Given the description of an element on the screen output the (x, y) to click on. 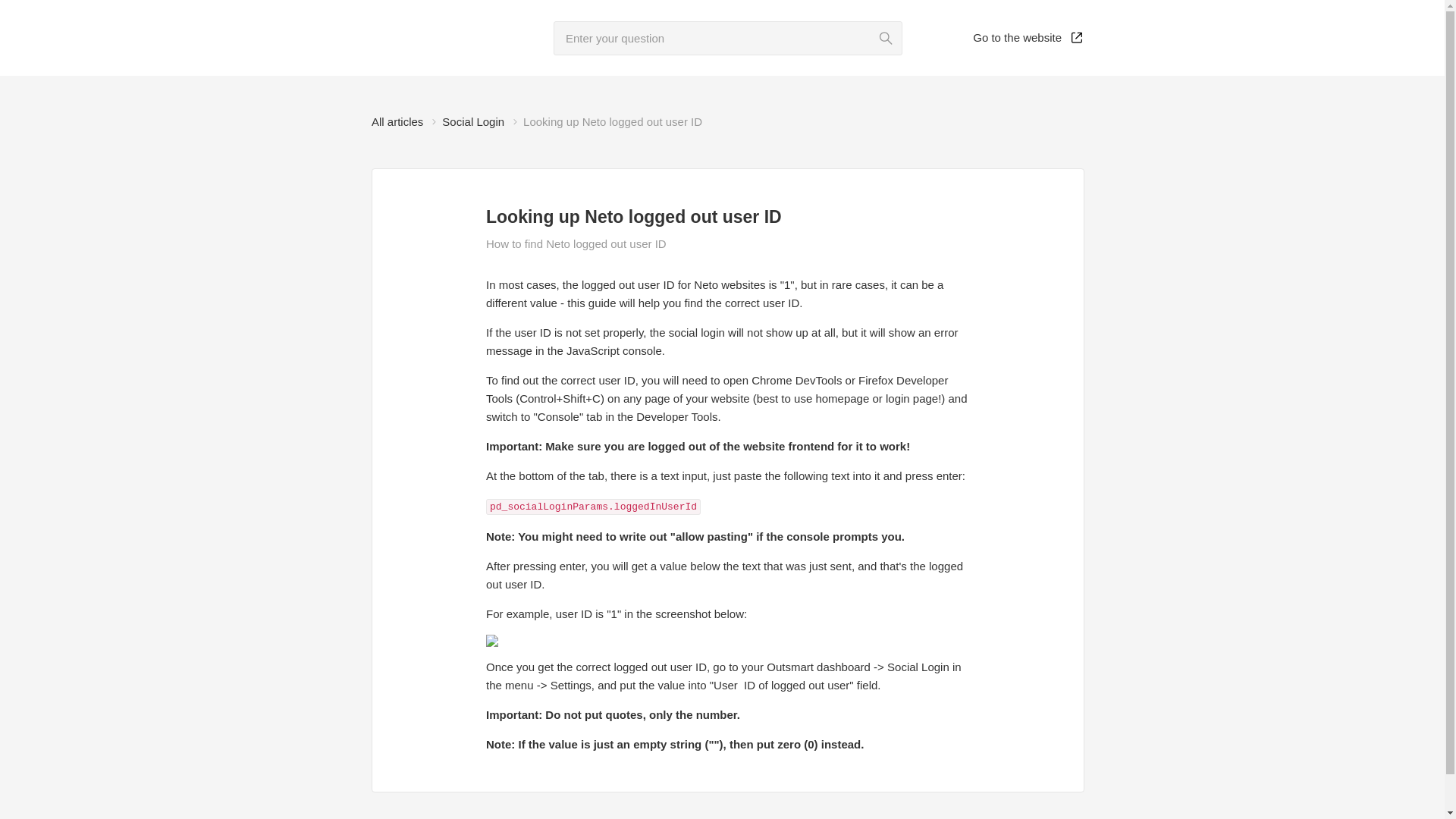
Social Login (472, 121)
Go to the website (1028, 37)
All articles (397, 121)
